Given the description of an element on the screen output the (x, y) to click on. 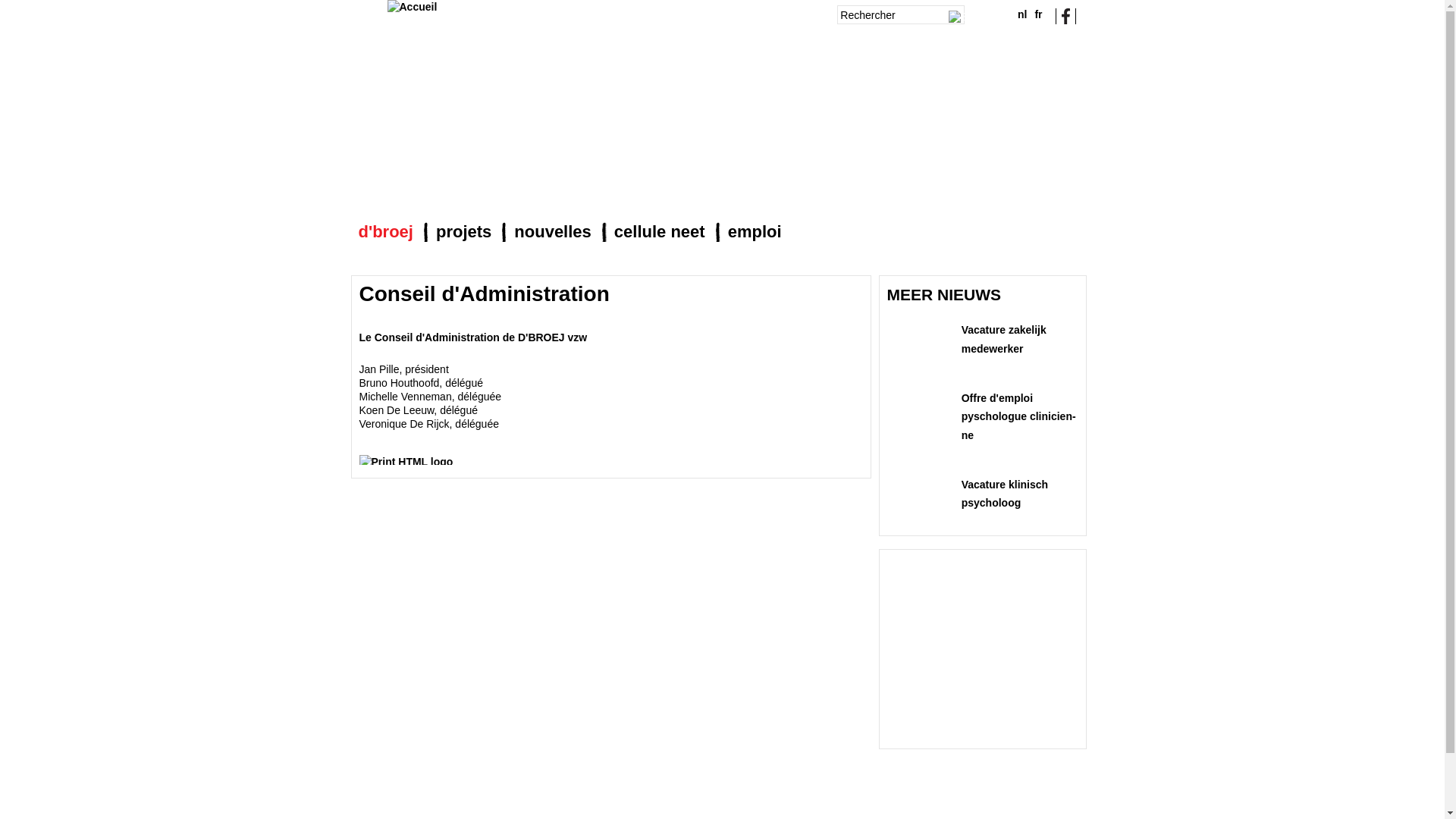
Vacature klinisch psycholoog Element type: text (1004, 493)
cellule neet Element type: text (659, 230)
Afdrukbare versie Element type: hover (406, 456)
projets Element type: text (463, 230)
emploi Element type: text (754, 230)
fr Element type: text (1037, 14)
MEER NIEUWS Element type: text (944, 293)
nl Element type: text (1021, 14)
Facebook Element type: text (1065, 15)
Jump to navigation Element type: text (722, 2)
d'broej Element type: text (384, 230)
nouvelles Element type: text (552, 230)
Vacature zakelijk medewerker Element type: text (1003, 338)
Offre d'emploi pyschologue clinicien-ne Element type: text (1018, 416)
Accueil Element type: hover (411, 6)
